Given the description of an element on the screen output the (x, y) to click on. 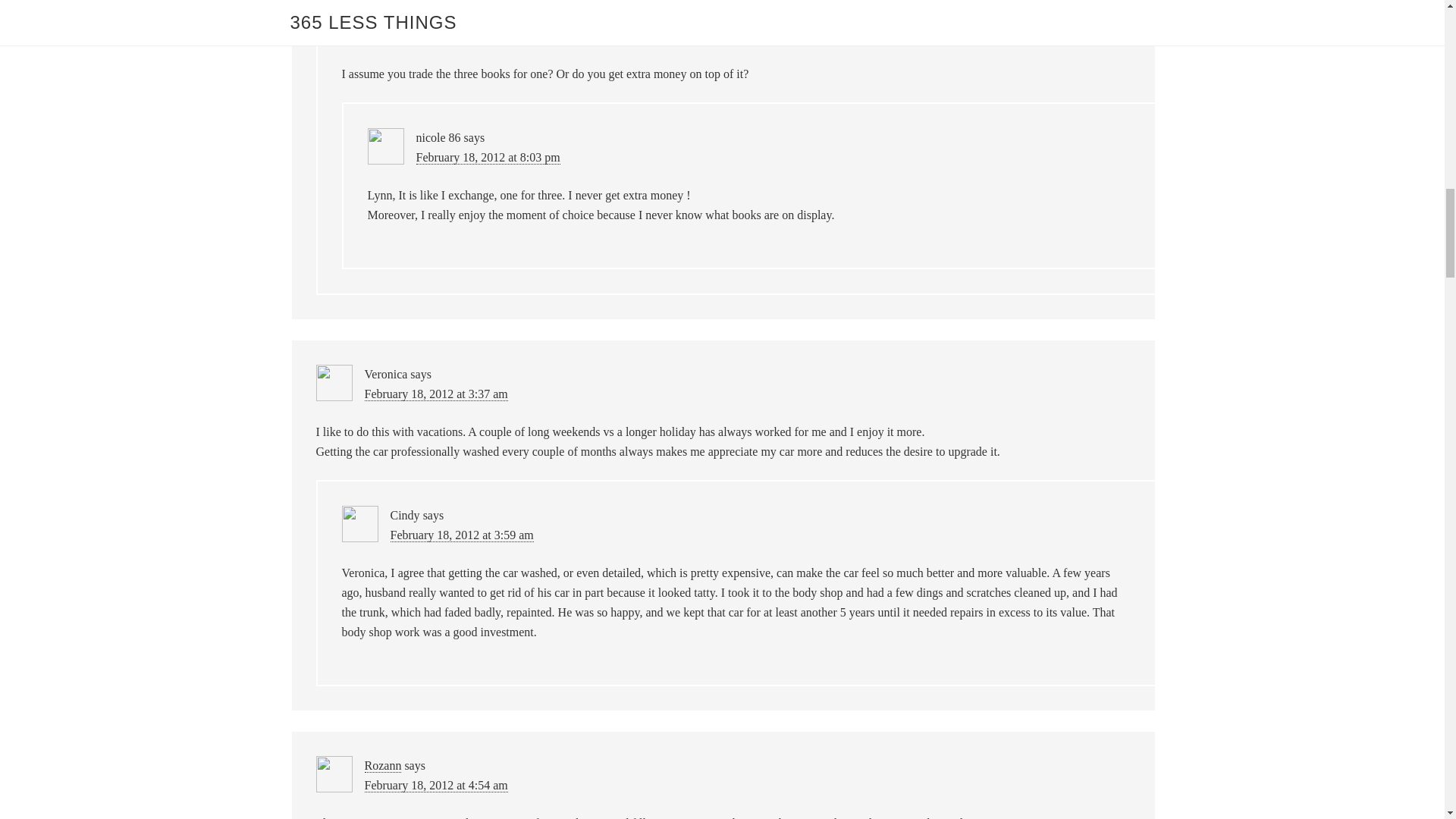
February 18, 2012 at 3:15 pm (462, 36)
February 18, 2012 at 3:37 am (435, 394)
February 18, 2012 at 8:03 pm (486, 157)
Rozann (382, 766)
February 18, 2012 at 4:54 am (435, 785)
Lynn (402, 16)
February 18, 2012 at 3:59 am (461, 535)
